Given the description of an element on the screen output the (x, y) to click on. 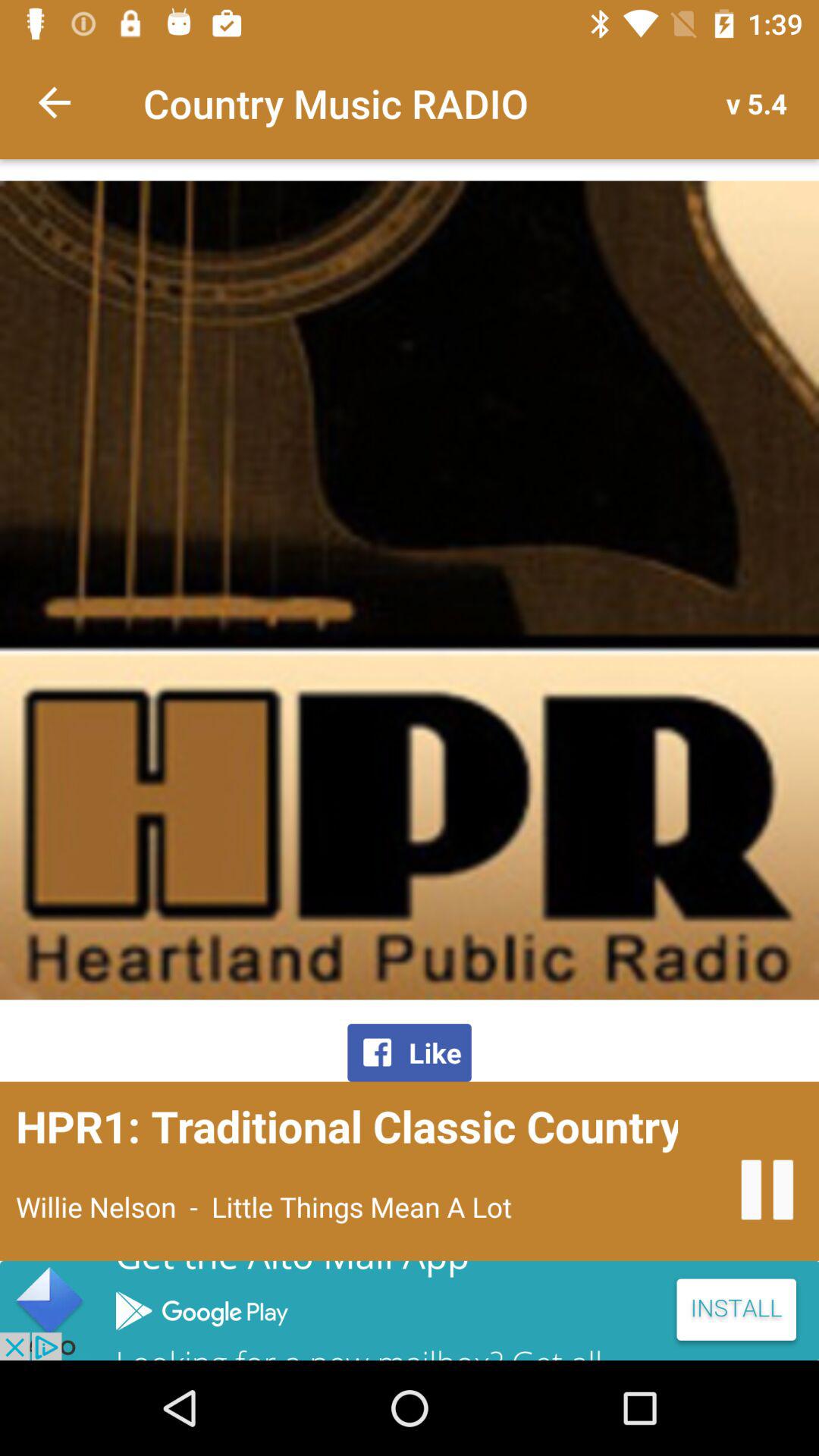
advertisement (409, 1310)
